Given the description of an element on the screen output the (x, y) to click on. 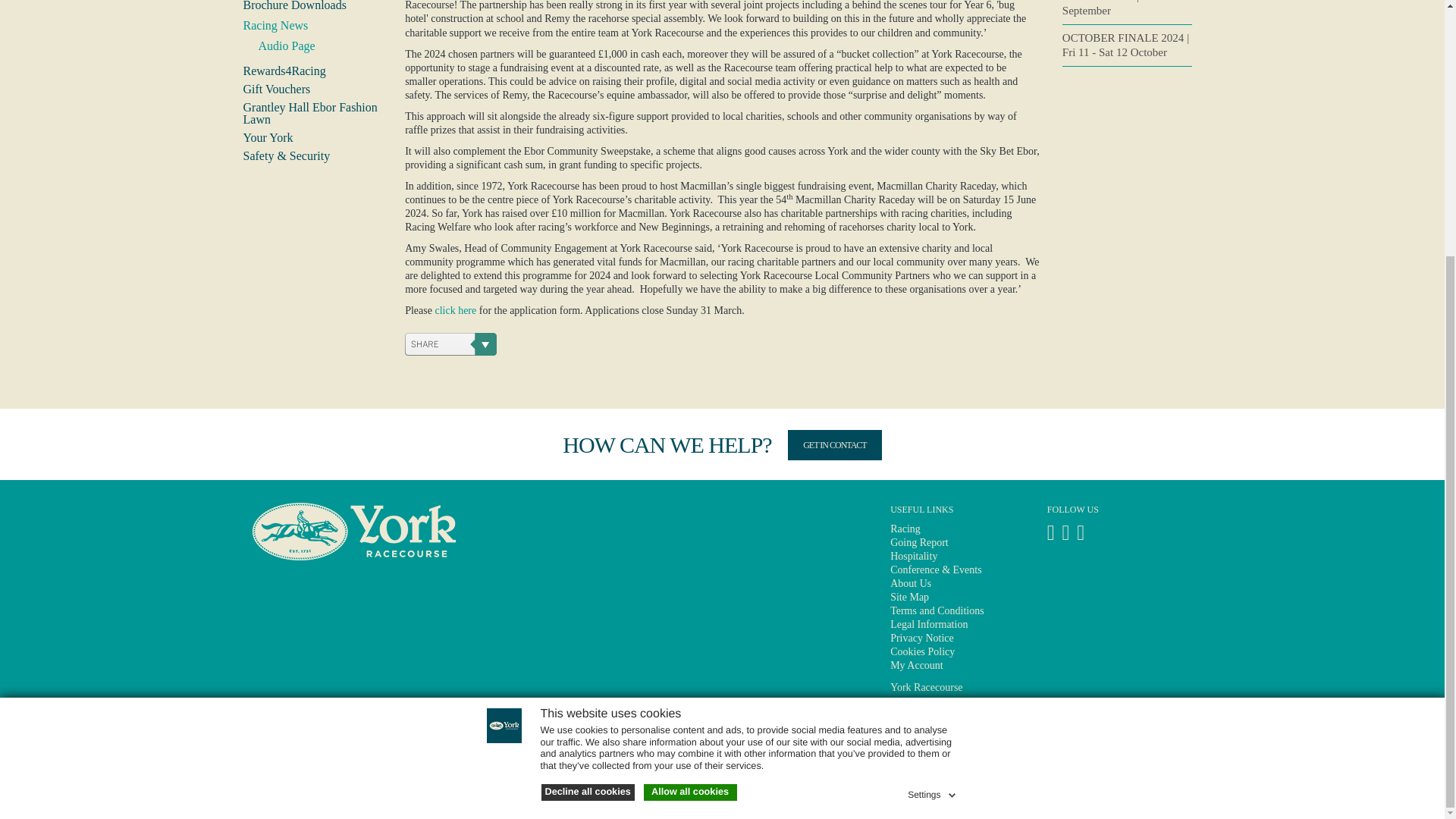
Decline all cookies (587, 428)
Allow all cookies (689, 428)
Settings (932, 428)
